Given the description of an element on the screen output the (x, y) to click on. 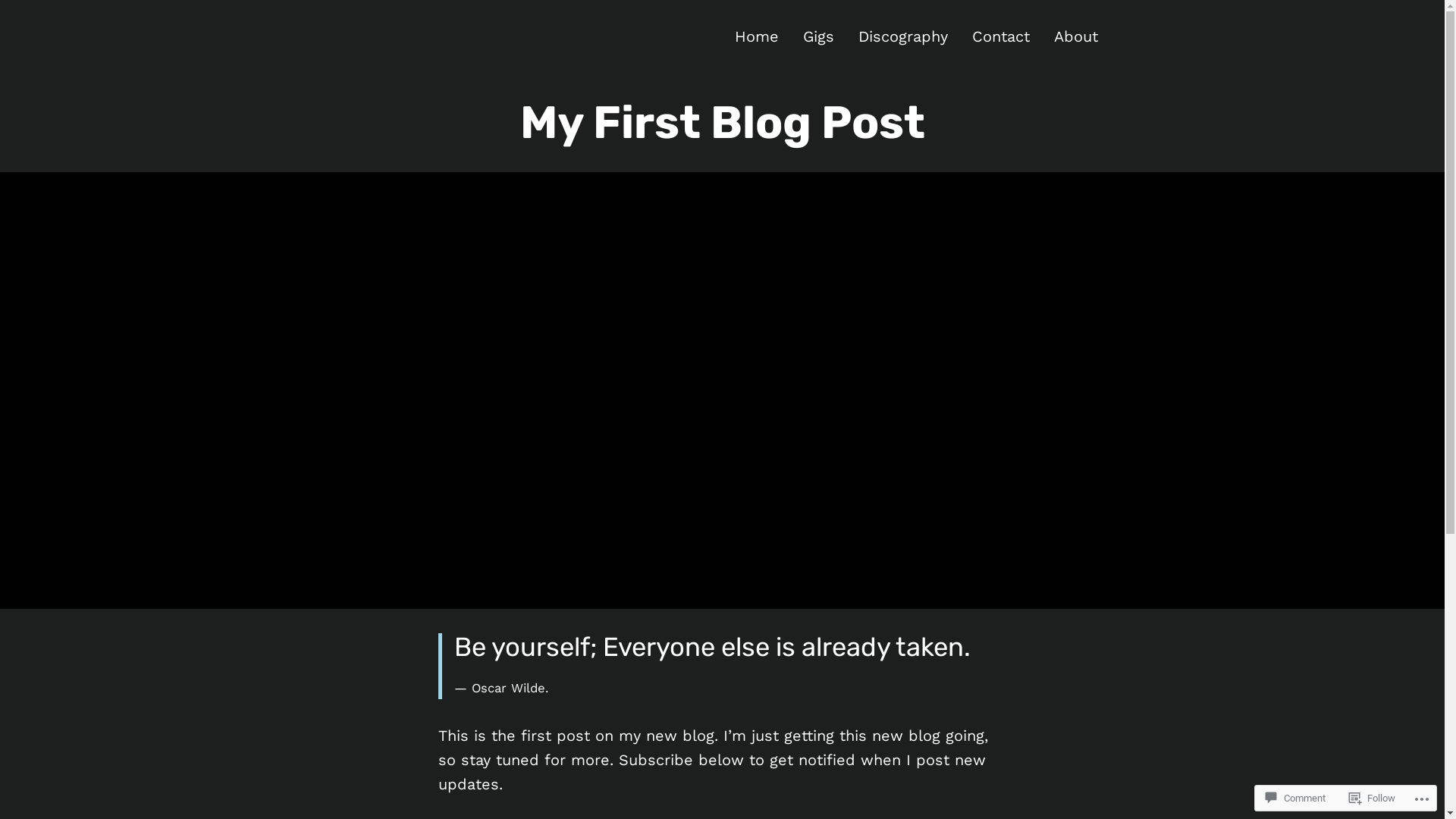
Gigs Element type: text (817, 35)
Shambertans Element type: text (414, 46)
Comment Element type: text (1295, 797)
Home Element type: text (756, 35)
About Element type: text (1076, 35)
Discography Element type: text (902, 35)
Follow Element type: text (1372, 797)
Contact Element type: text (1000, 35)
